Given the description of an element on the screen output the (x, y) to click on. 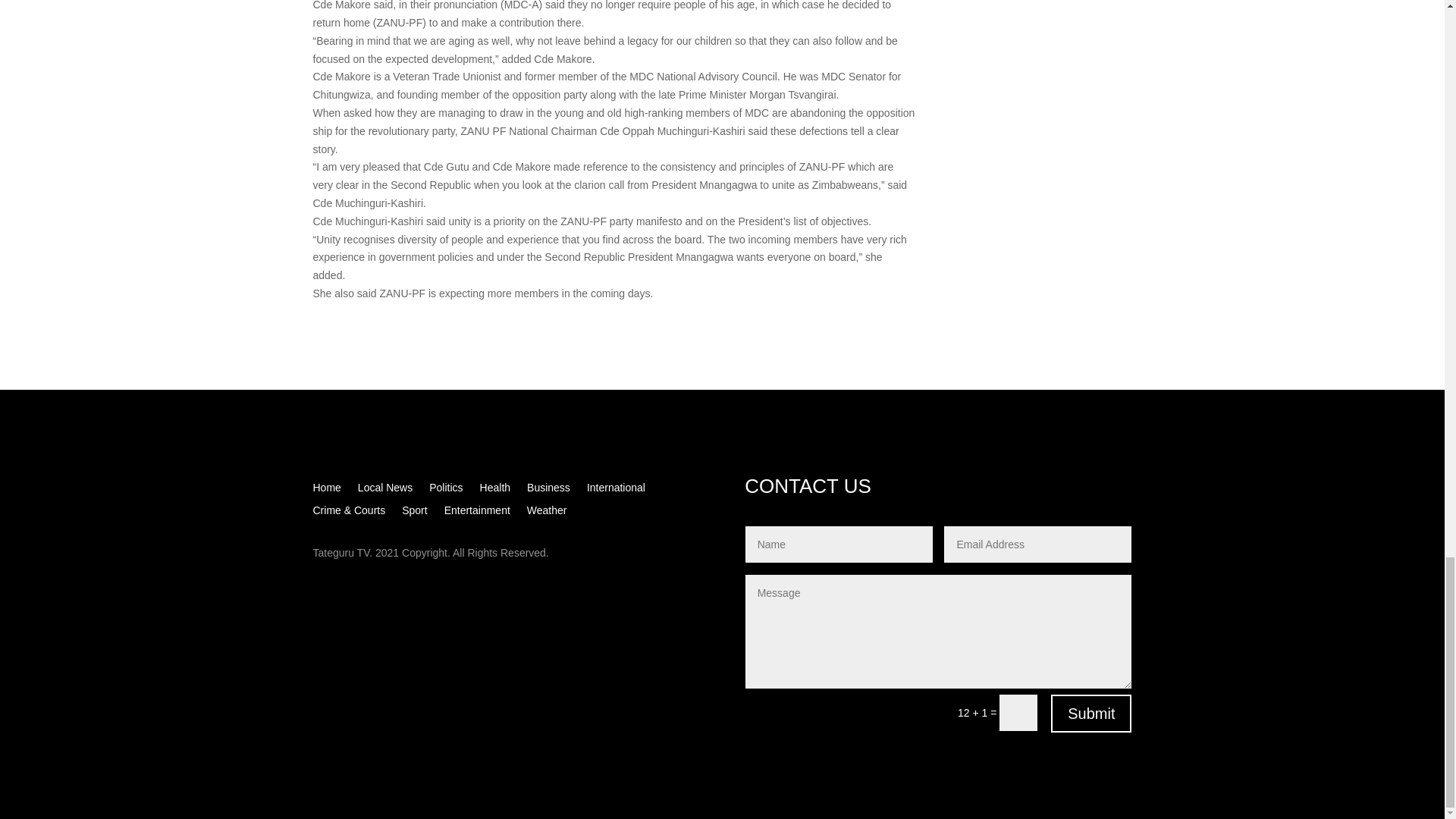
Local News (385, 490)
Home (326, 490)
Politics (446, 490)
